Given the description of an element on the screen output the (x, y) to click on. 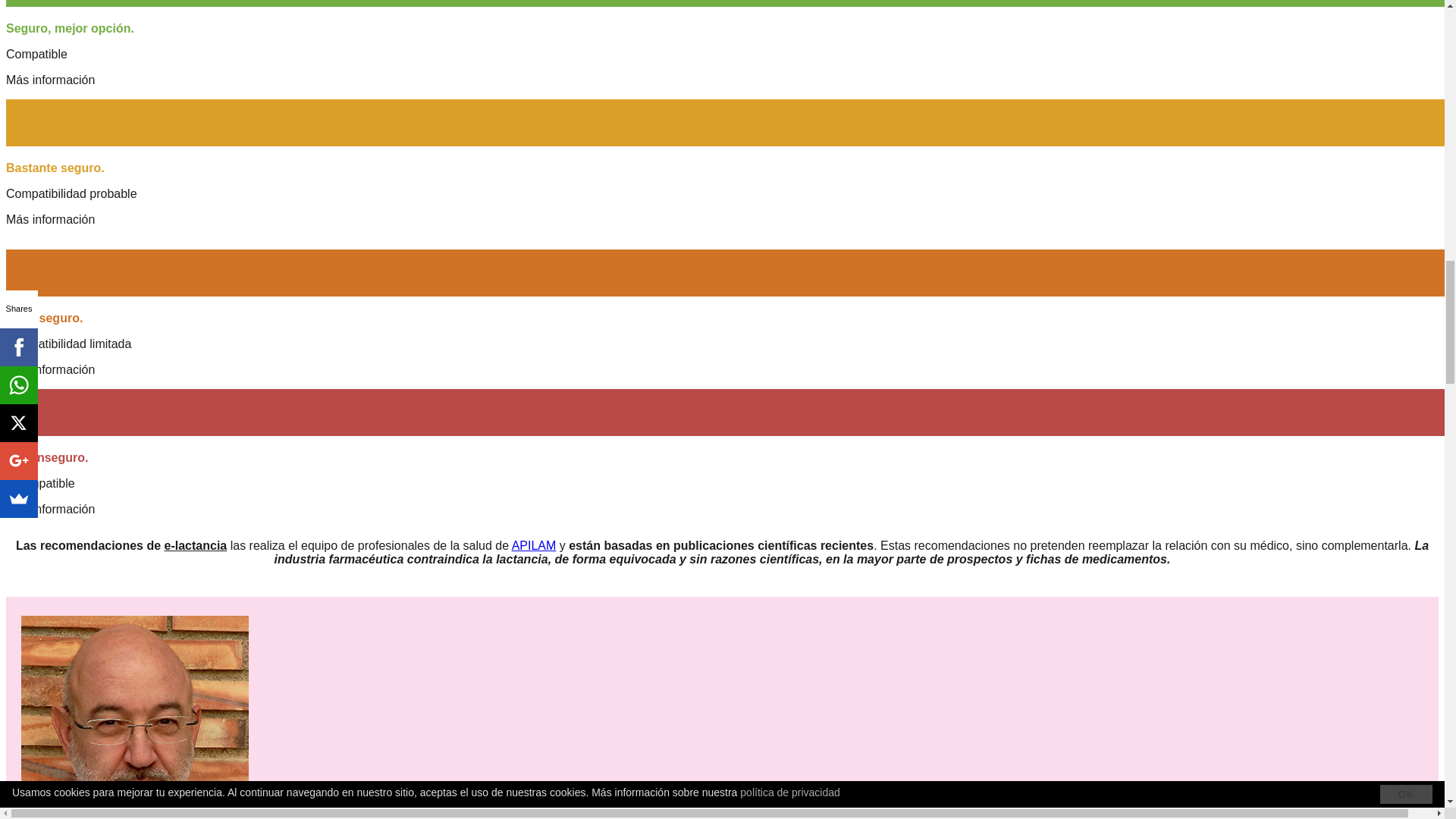
APILAM (534, 545)
